Given the description of an element on the screen output the (x, y) to click on. 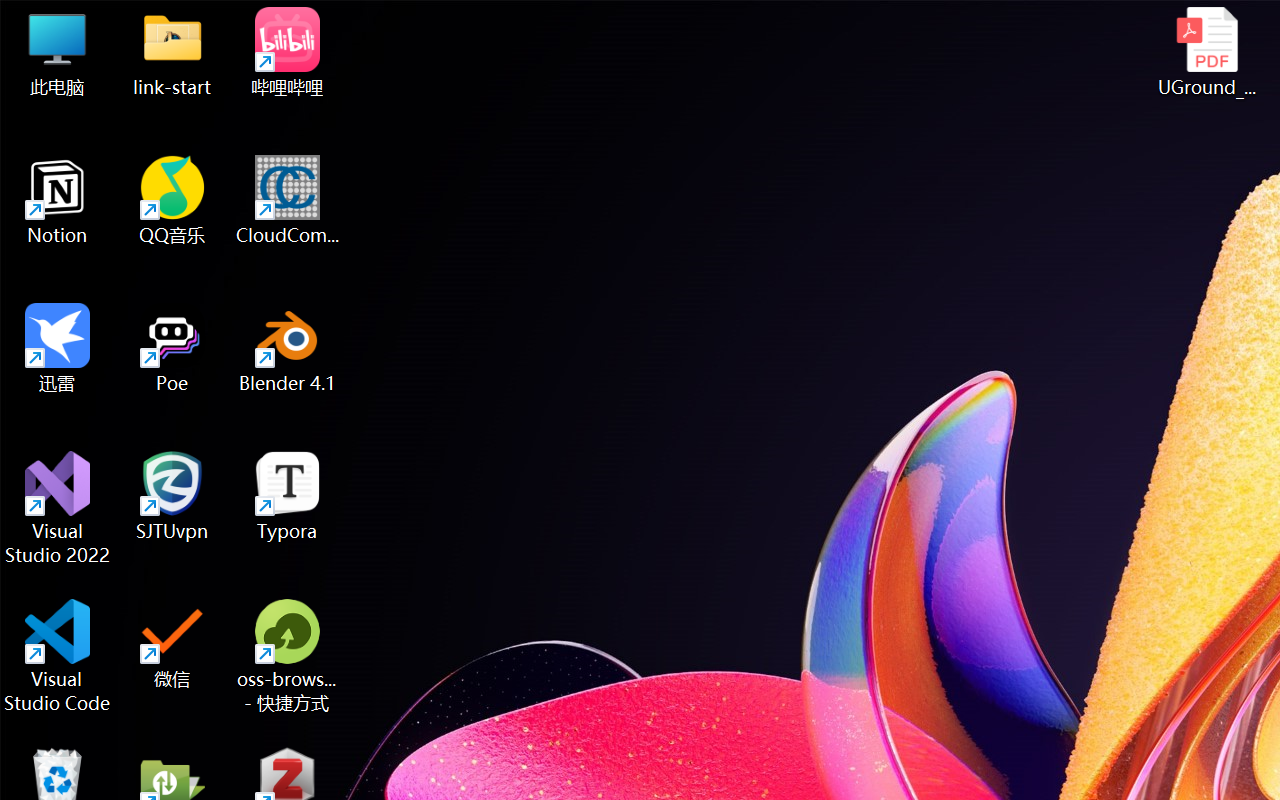
UGround_paper.pdf (1206, 52)
Blender 4.1 (287, 348)
Visual Studio 2022 (57, 508)
CloudCompare (287, 200)
Typora (287, 496)
Visual Studio Code (57, 656)
